Given the description of an element on the screen output the (x, y) to click on. 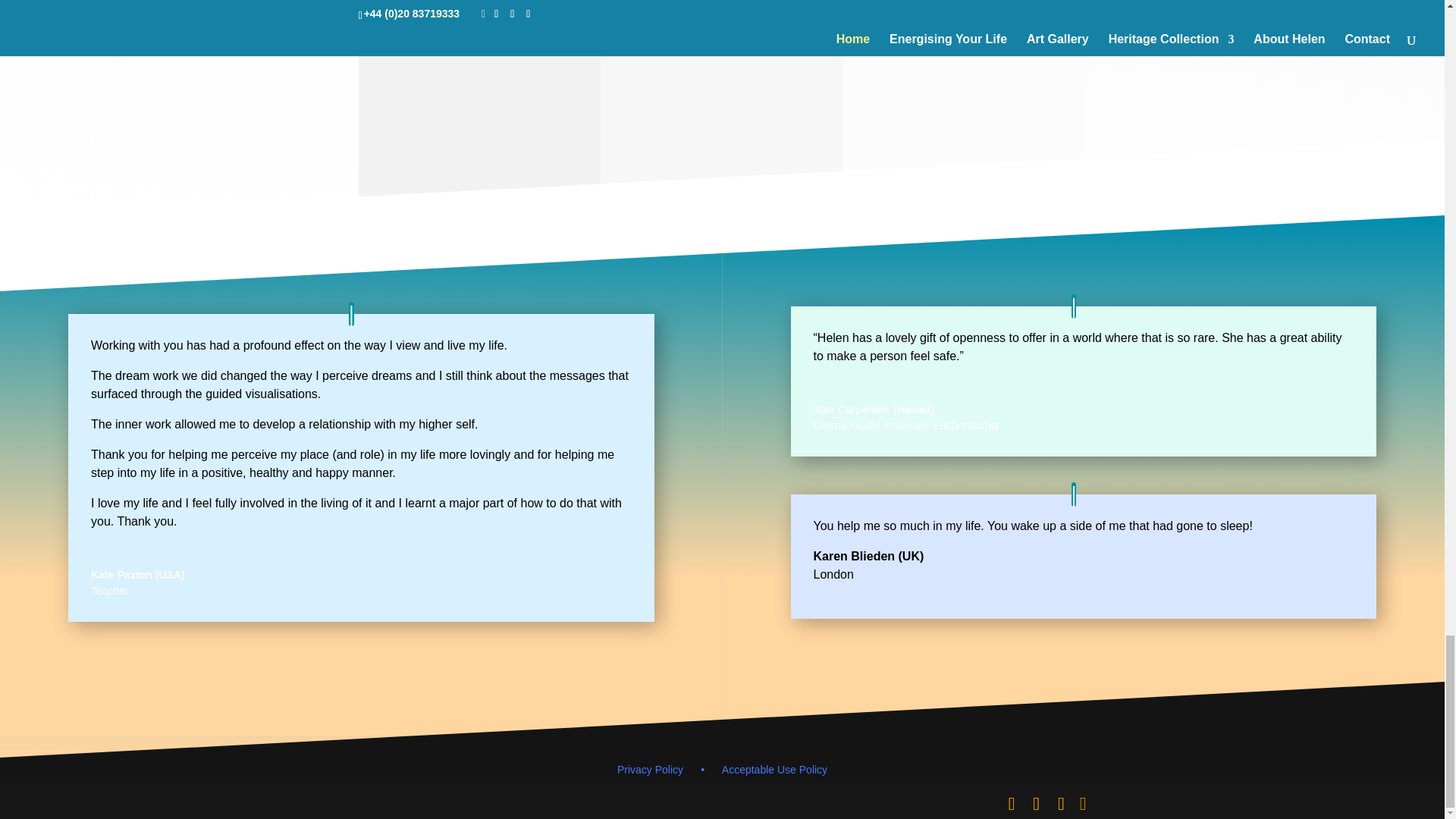
Acceptable Use Policy (774, 769)
Privacy Policy (669, 769)
Acceptable Use Policy (774, 769)
